Given the description of an element on the screen output the (x, y) to click on. 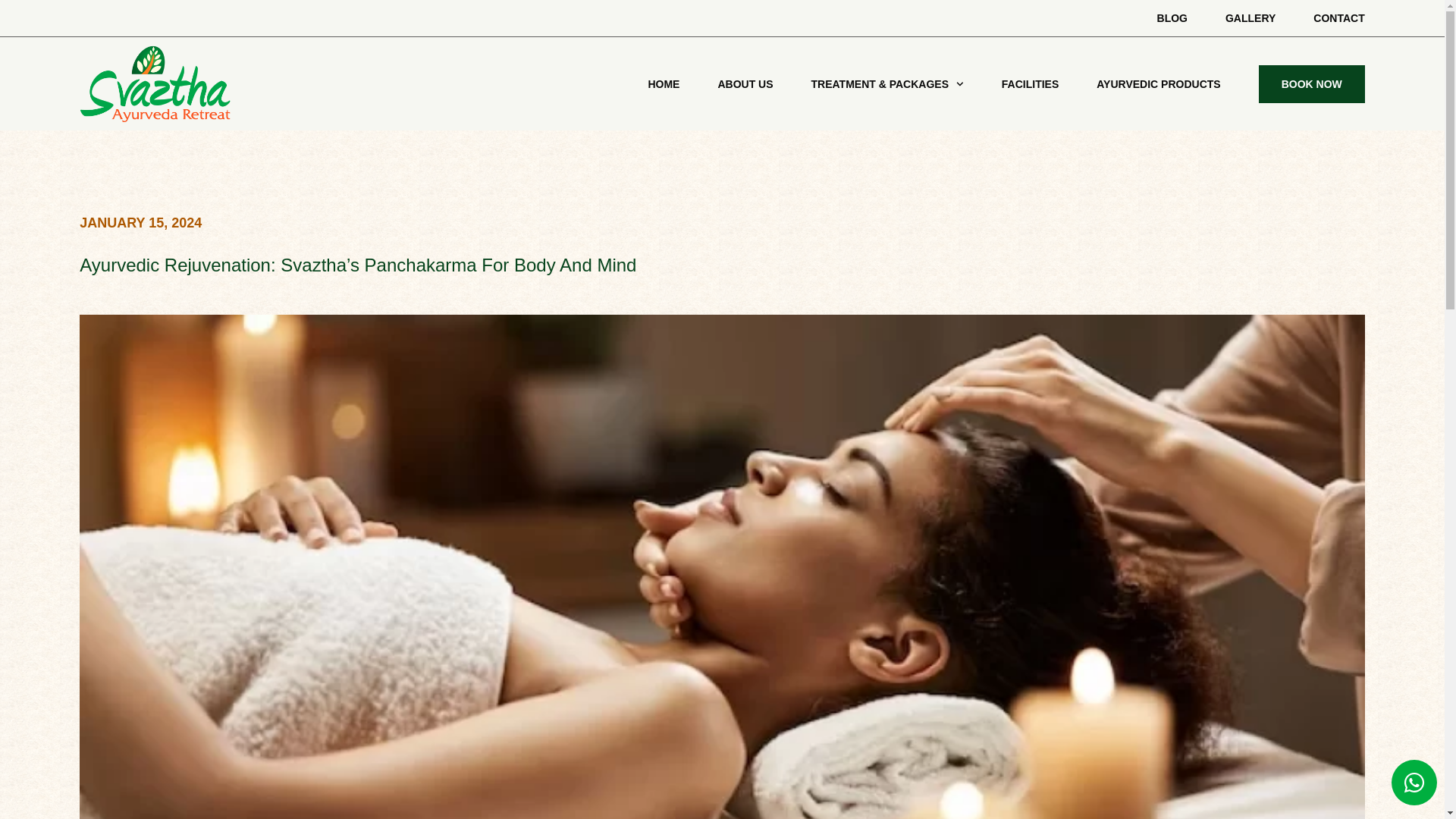
FACILITIES (1029, 84)
BOOK NOW (1312, 84)
GALLERY (1250, 17)
CONTACT (1338, 17)
ABOUT US (745, 84)
BLOG (1172, 17)
JANUARY 15, 2024 (141, 222)
AYURVEDIC PRODUCTS (1158, 84)
